Given the description of an element on the screen output the (x, y) to click on. 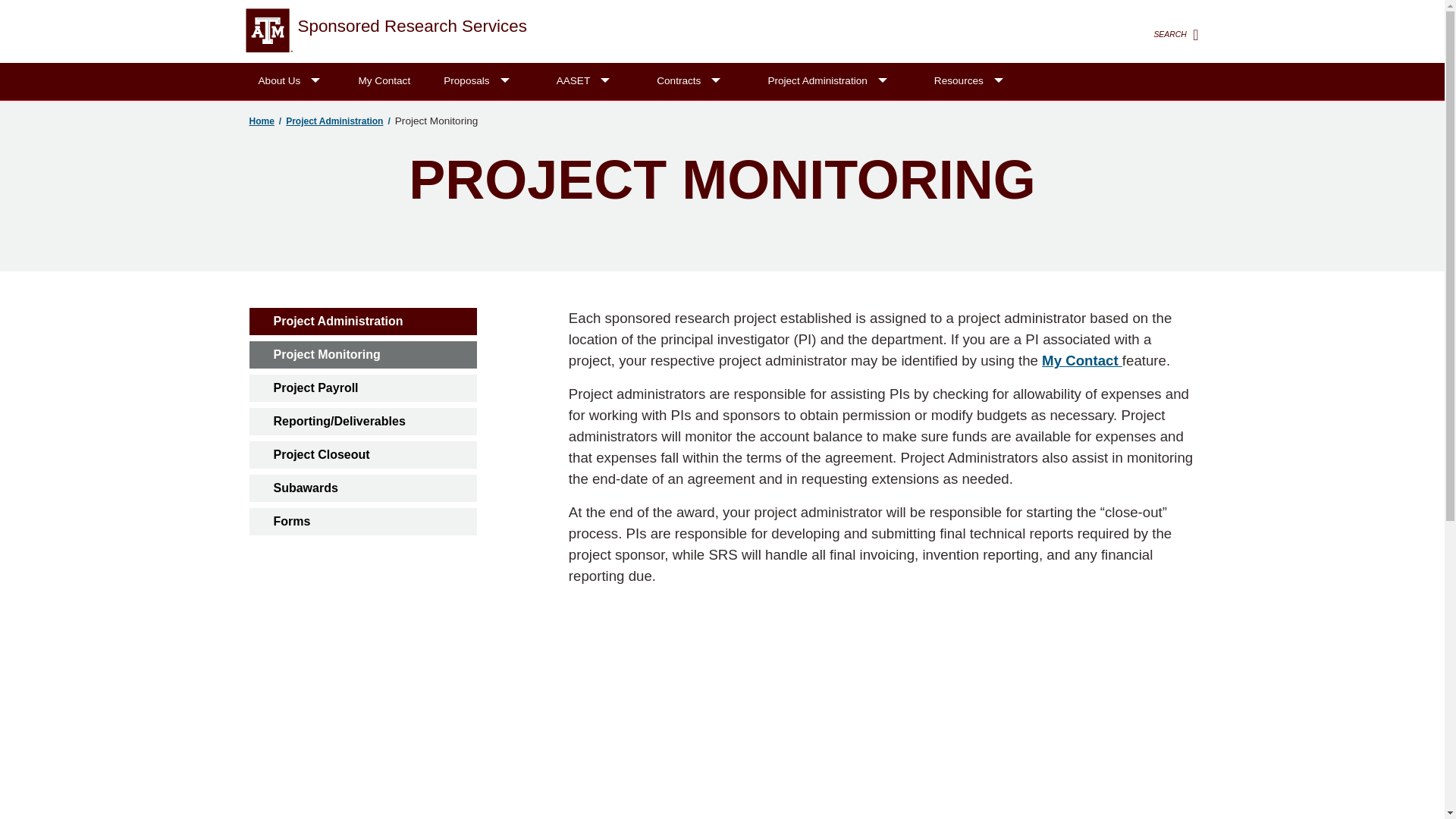
Subawards (362, 488)
Project Monitoring (362, 354)
Contracts (689, 81)
Forms (362, 521)
Project Administration (828, 81)
SEARCH (1178, 34)
Toggle AASET sub-menu (604, 81)
Proposals (478, 81)
Project Administration (362, 320)
About Us (290, 81)
